Given the description of an element on the screen output the (x, y) to click on. 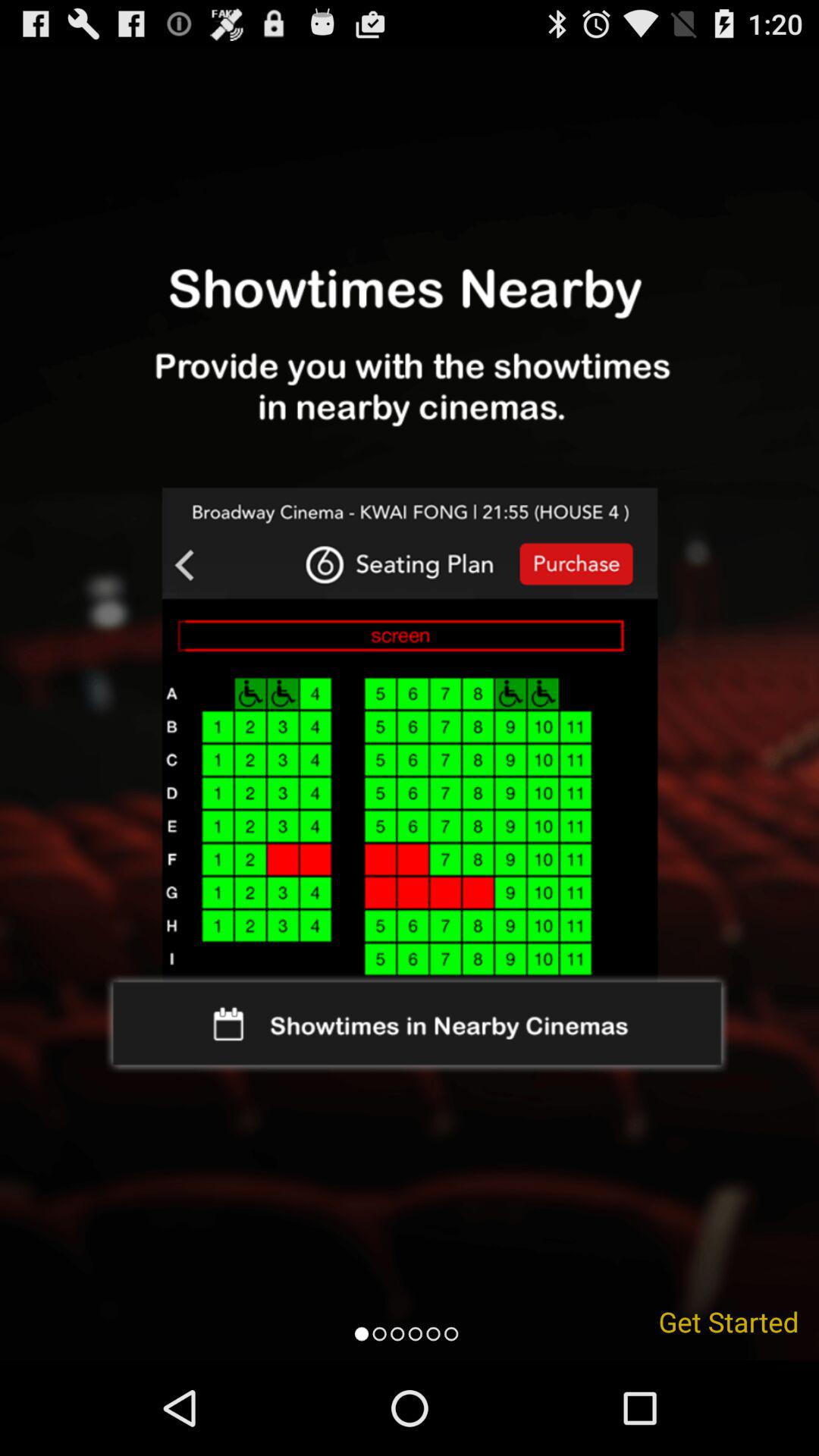
turn on the get started at the bottom right corner (728, 1321)
